Given the description of an element on the screen output the (x, y) to click on. 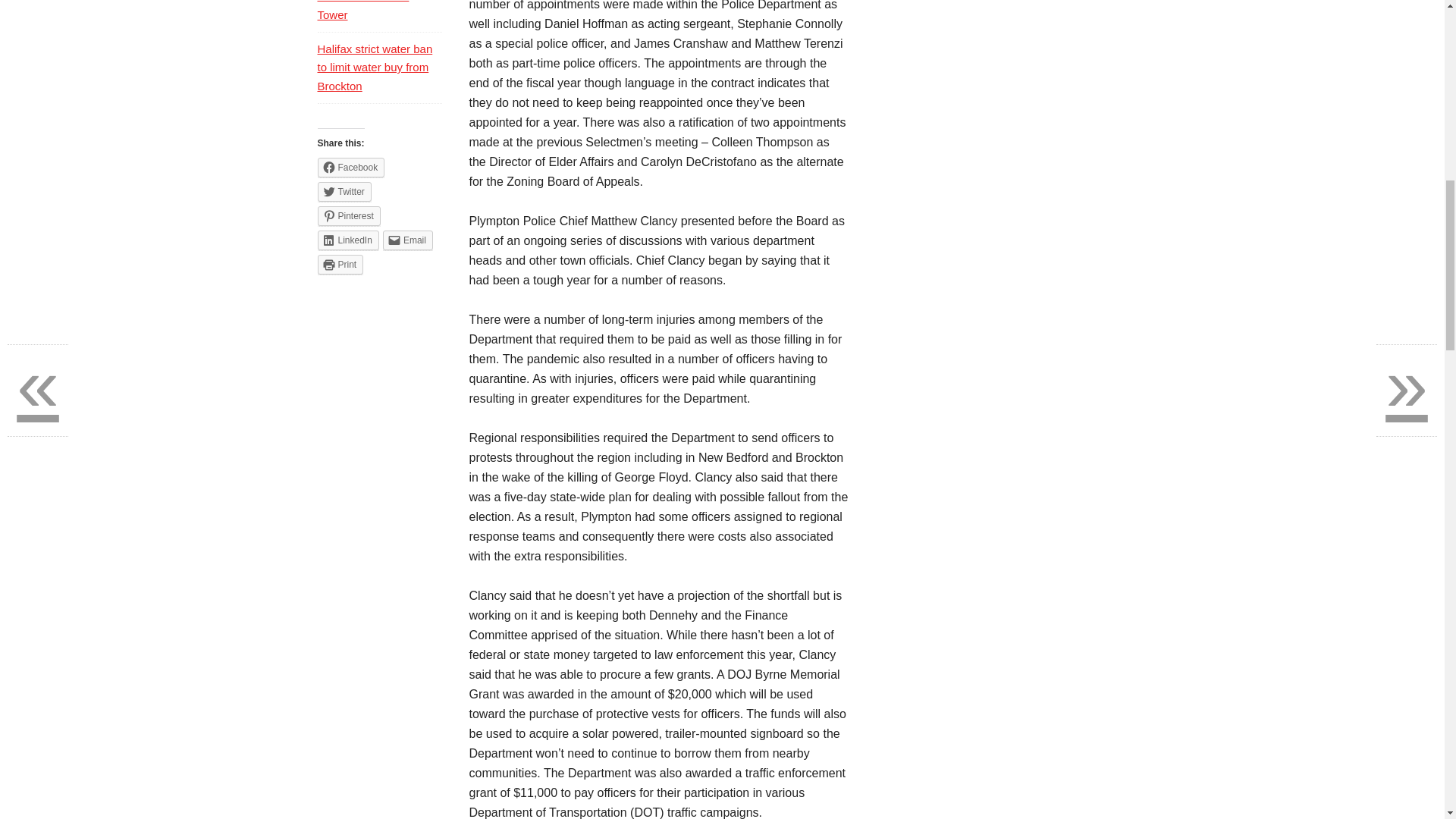
Click to print (339, 264)
Click to share on Pinterest (348, 216)
Click to share on Twitter (344, 191)
A shower from the Tower (363, 10)
Click to share on Facebook (350, 167)
Click to email a link to a friend (407, 240)
Click to share on LinkedIn (347, 240)
